Given the description of an element on the screen output the (x, y) to click on. 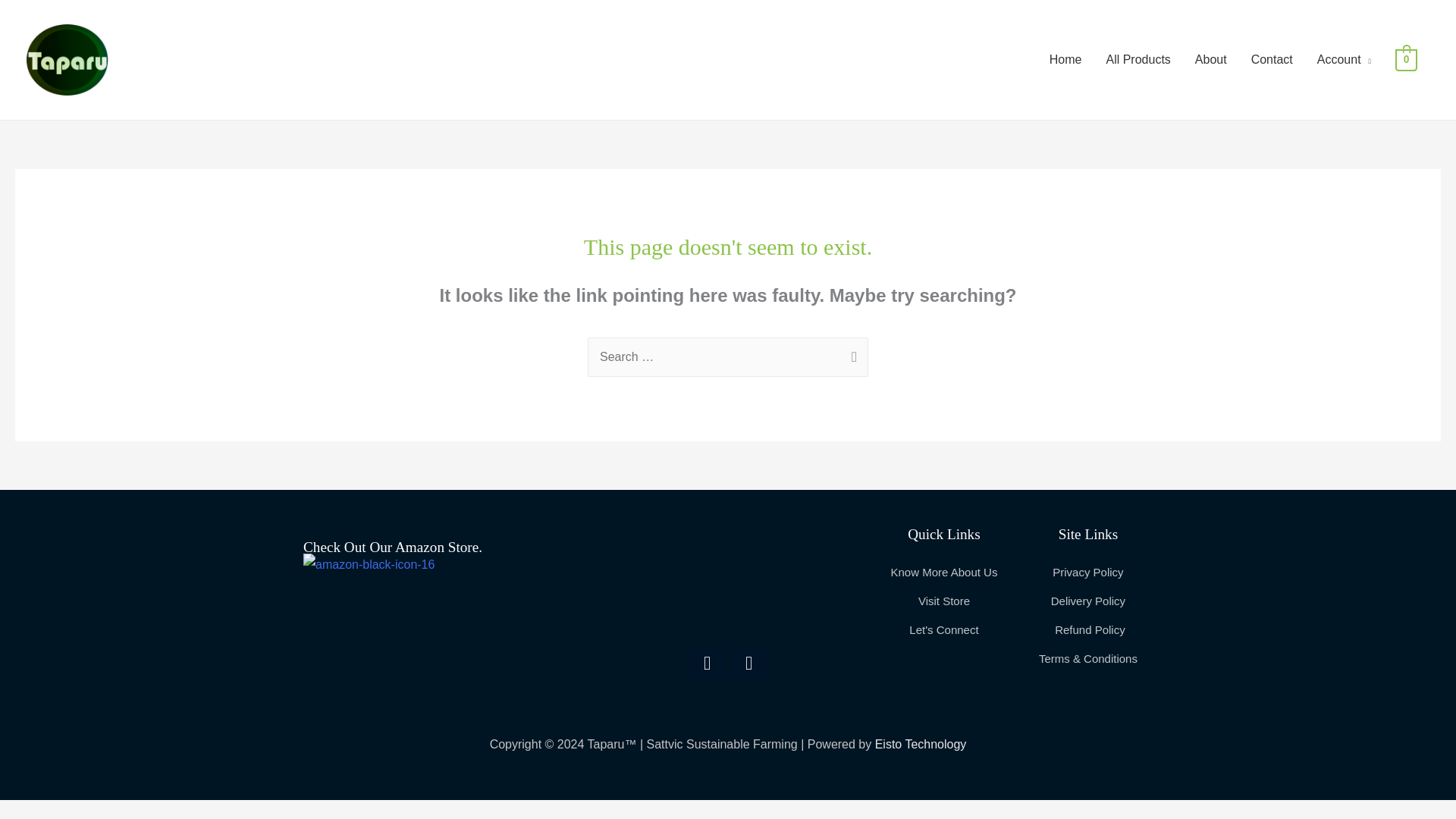
Privacy Policy (1088, 572)
All Products (1137, 60)
amazon-black-icon-16 (367, 616)
Know More About Us (944, 572)
Eisto Technology (920, 744)
Home (1065, 60)
Visit Store (944, 600)
